Given the description of an element on the screen output the (x, y) to click on. 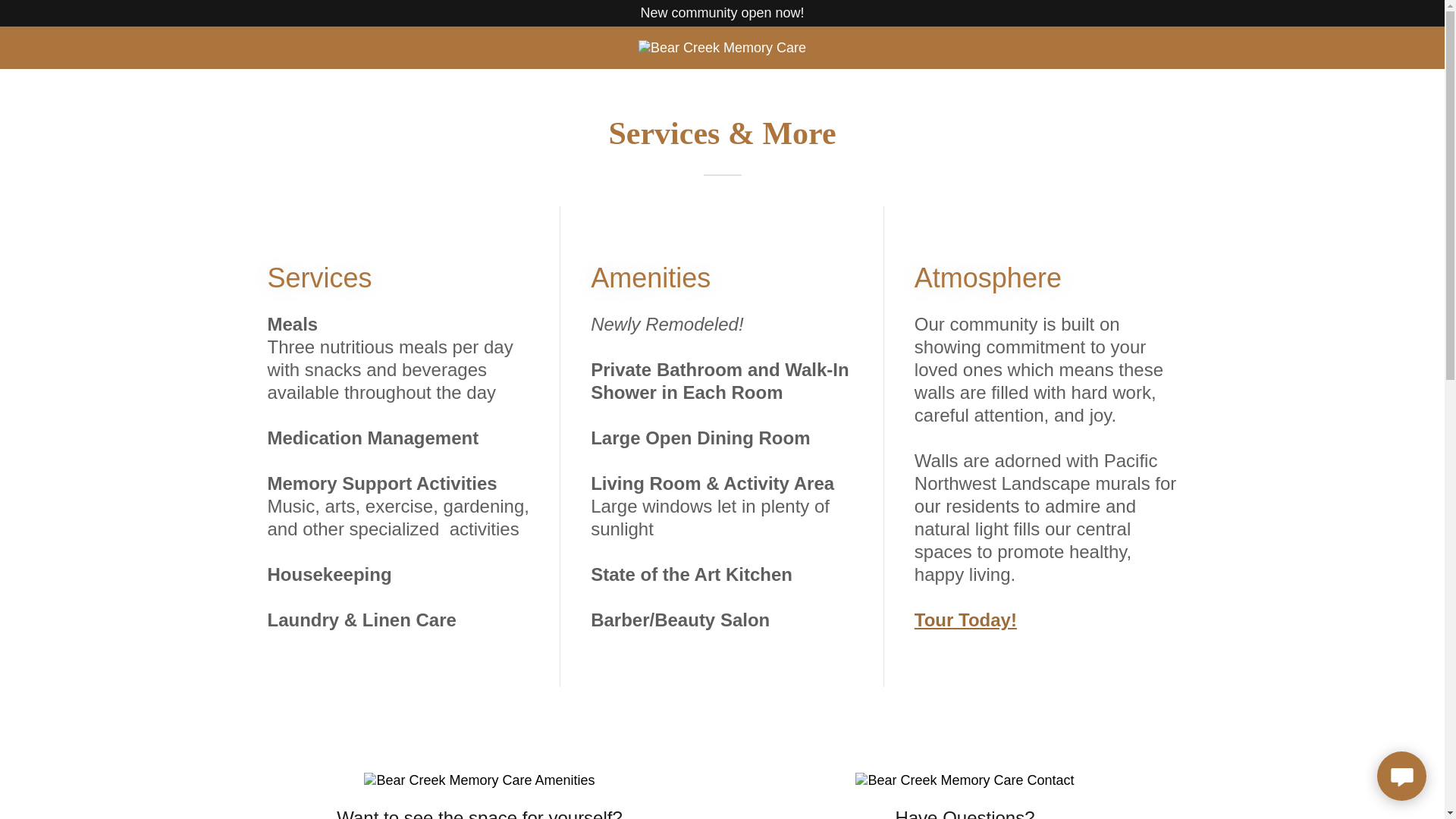
Bear Creek Memory Care (722, 46)
Tour Today! (965, 619)
